Given the description of an element on the screen output the (x, y) to click on. 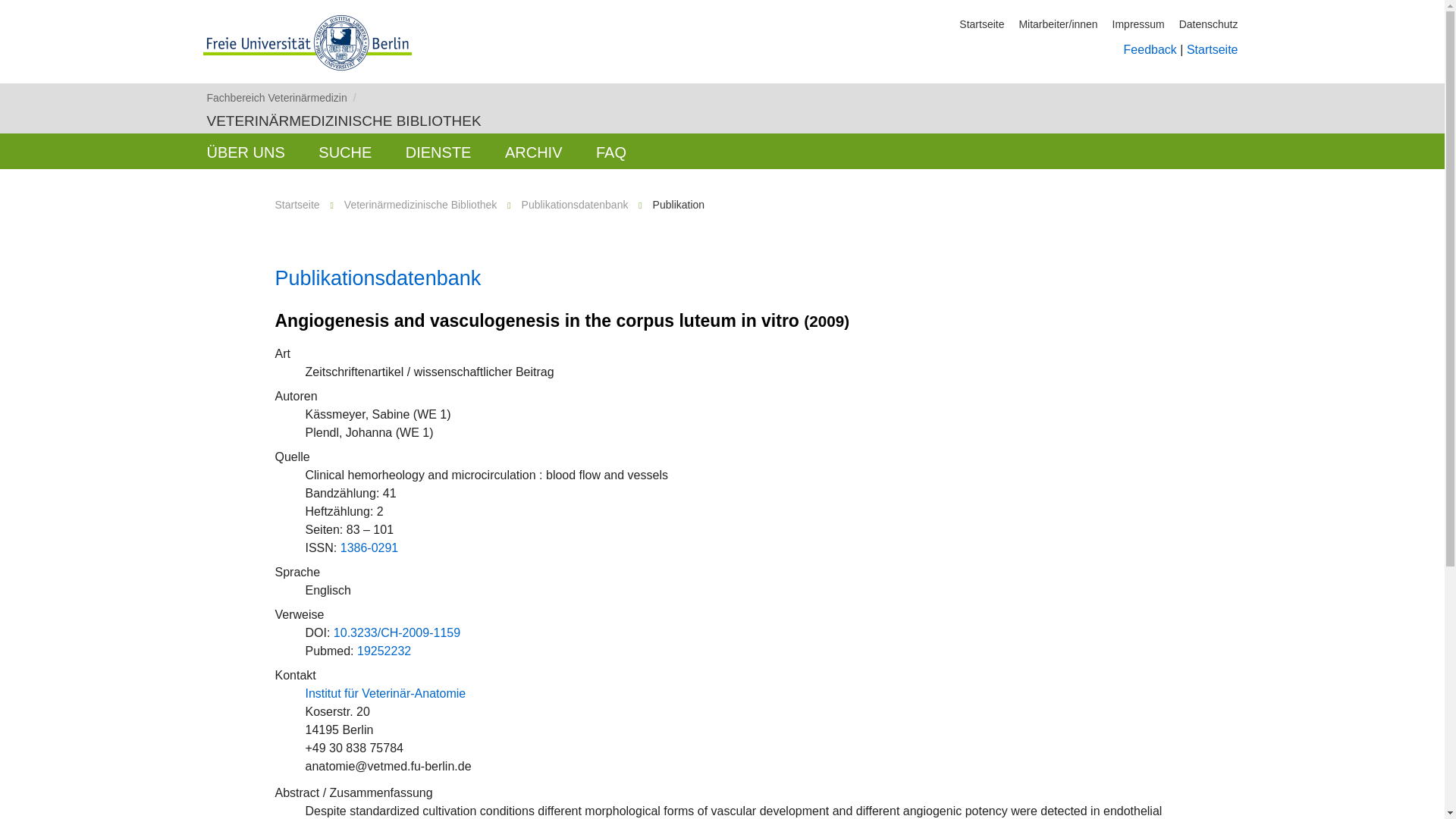
1386-0291 (369, 547)
Startseite (981, 24)
Feedback (1150, 49)
ARCHIV (533, 150)
Startseite (1212, 49)
Publikationsdatenbank (377, 277)
Startseite (296, 204)
DIENSTE (438, 150)
Impressum (1138, 24)
SUCHE (344, 150)
